Given the description of an element on the screen output the (x, y) to click on. 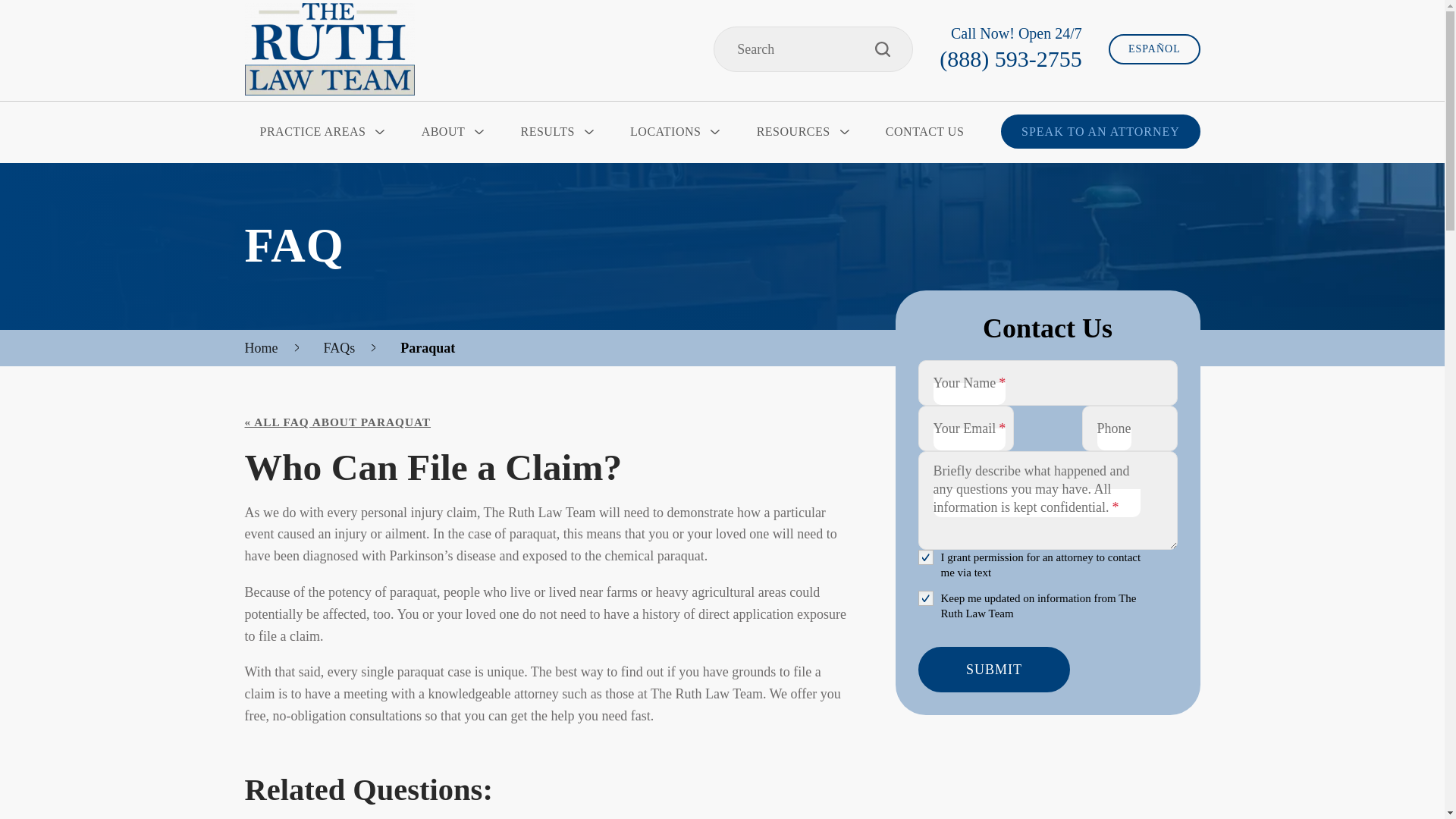
Submit (992, 669)
The Ruth Law Team (328, 48)
PRACTICE AREAS (320, 131)
